Given the description of an element on the screen output the (x, y) to click on. 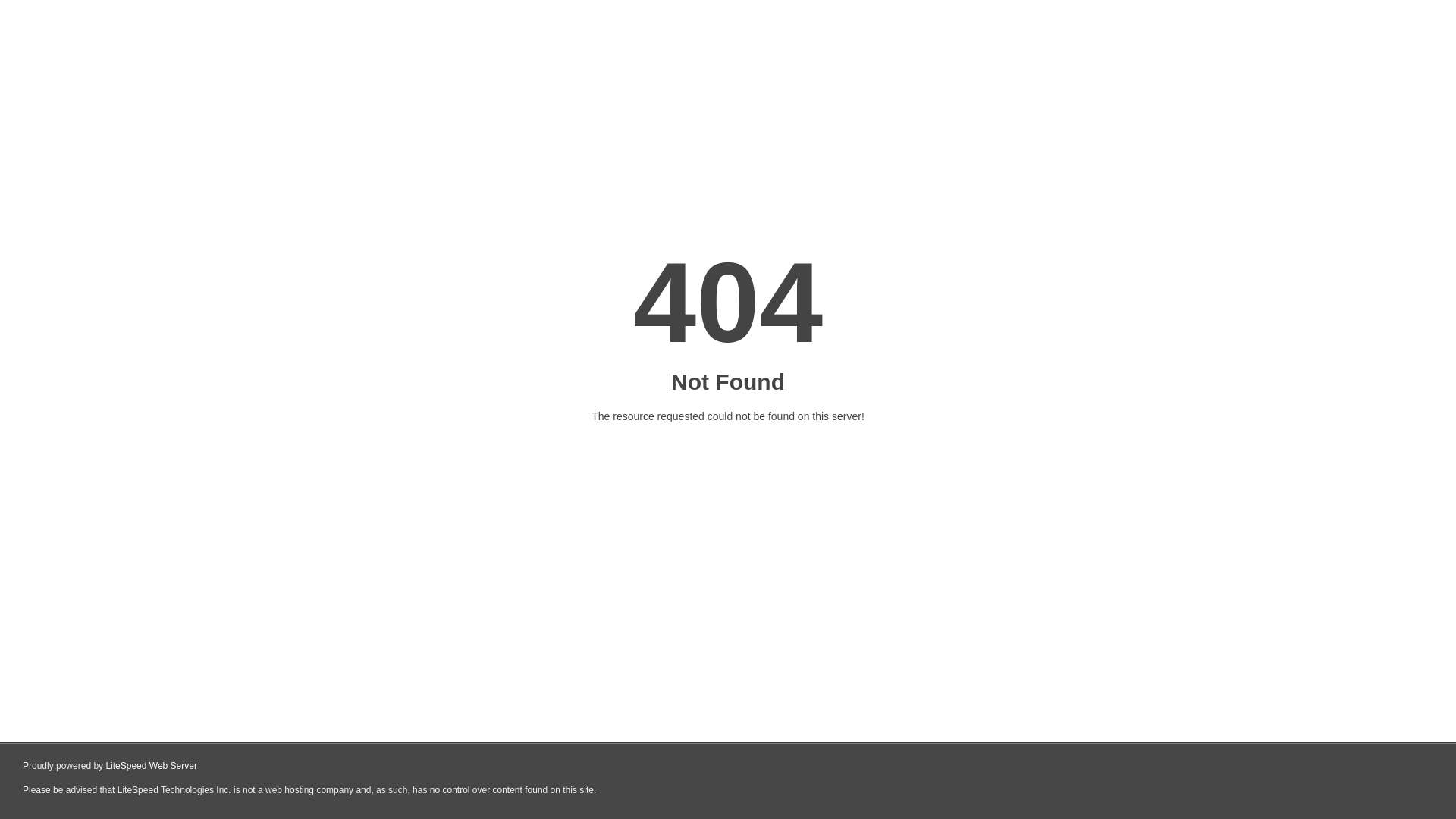
LiteSpeed Web Server Element type: text (151, 765)
